Given the description of an element on the screen output the (x, y) to click on. 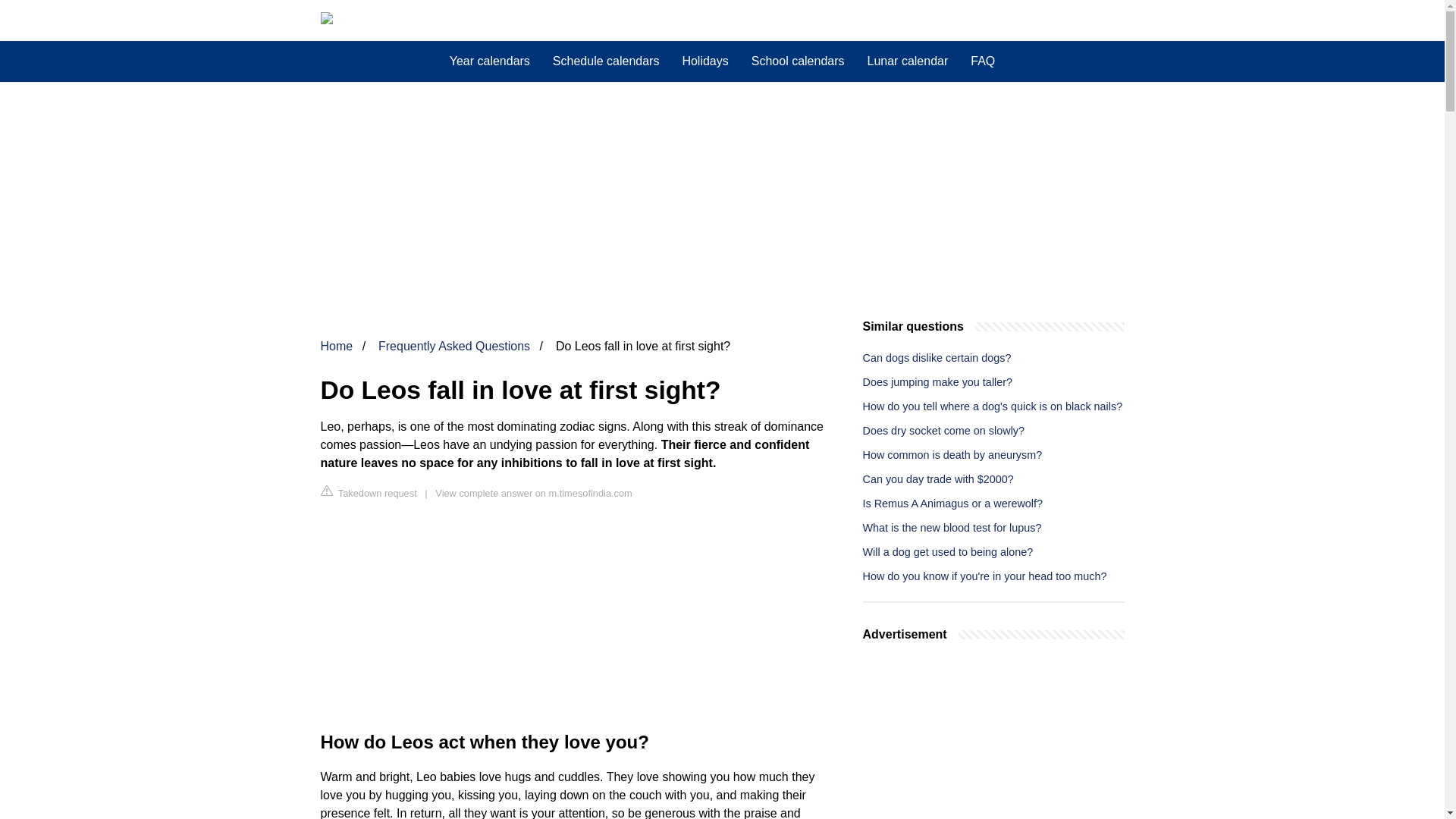
FAQ (982, 60)
Year calendars (489, 60)
School calendars (797, 60)
View complete answer on m.timesofindia.com (533, 492)
Schedule calendars (606, 60)
Holidays (704, 60)
Frequently Asked Questions (453, 345)
Home (336, 345)
Lunar calendar (907, 60)
Takedown request (368, 492)
